Given the description of an element on the screen output the (x, y) to click on. 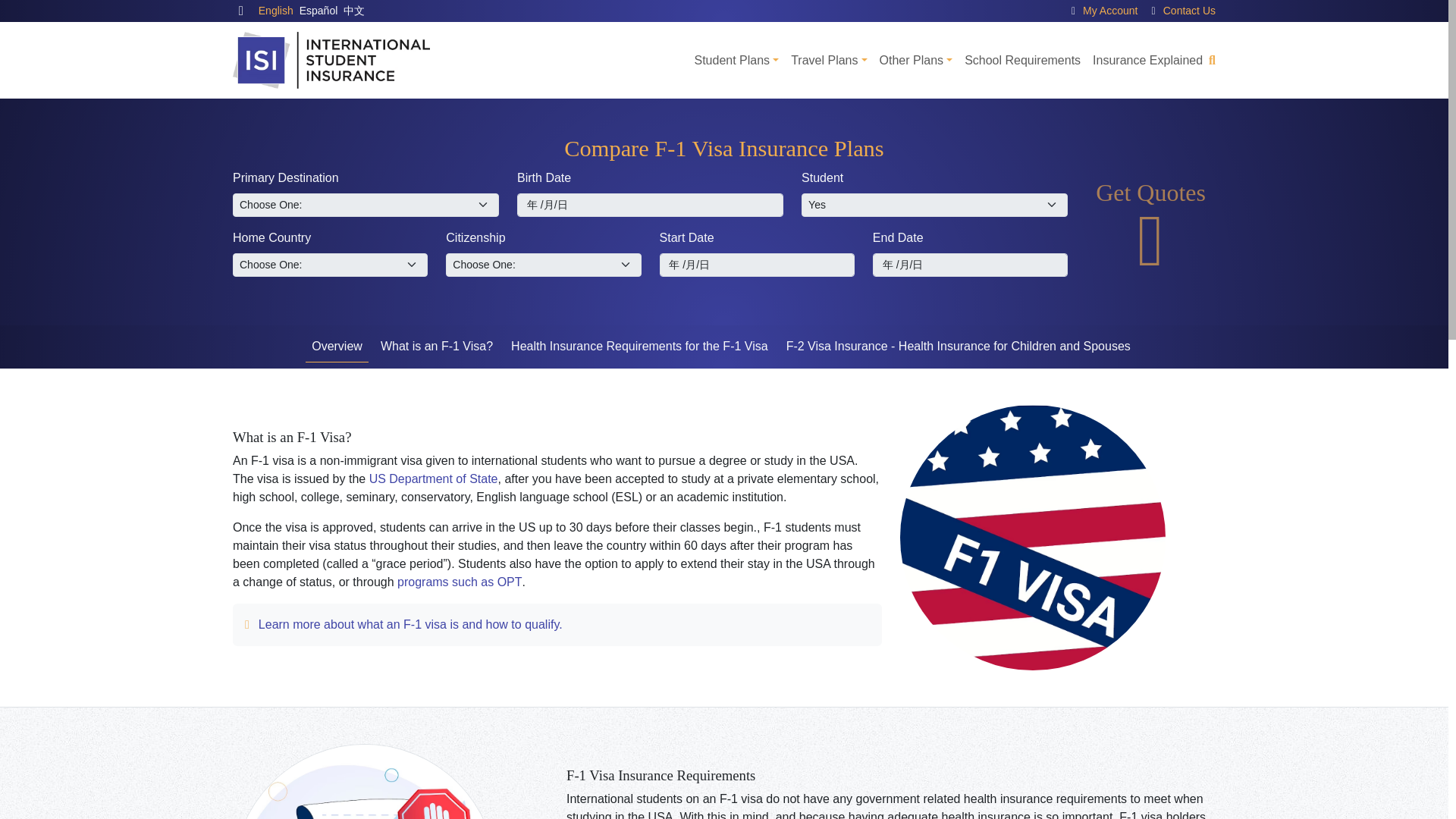
Contact Us (1189, 10)
My Account (1110, 10)
Other Plans (916, 60)
programs such as OPT (459, 581)
What is an F-1 Visa? (436, 346)
Student Plans (735, 60)
Insurance Explained (1147, 60)
School Requirements (1022, 60)
English (276, 10)
Get Quotes (1150, 228)
